Given the description of an element on the screen output the (x, y) to click on. 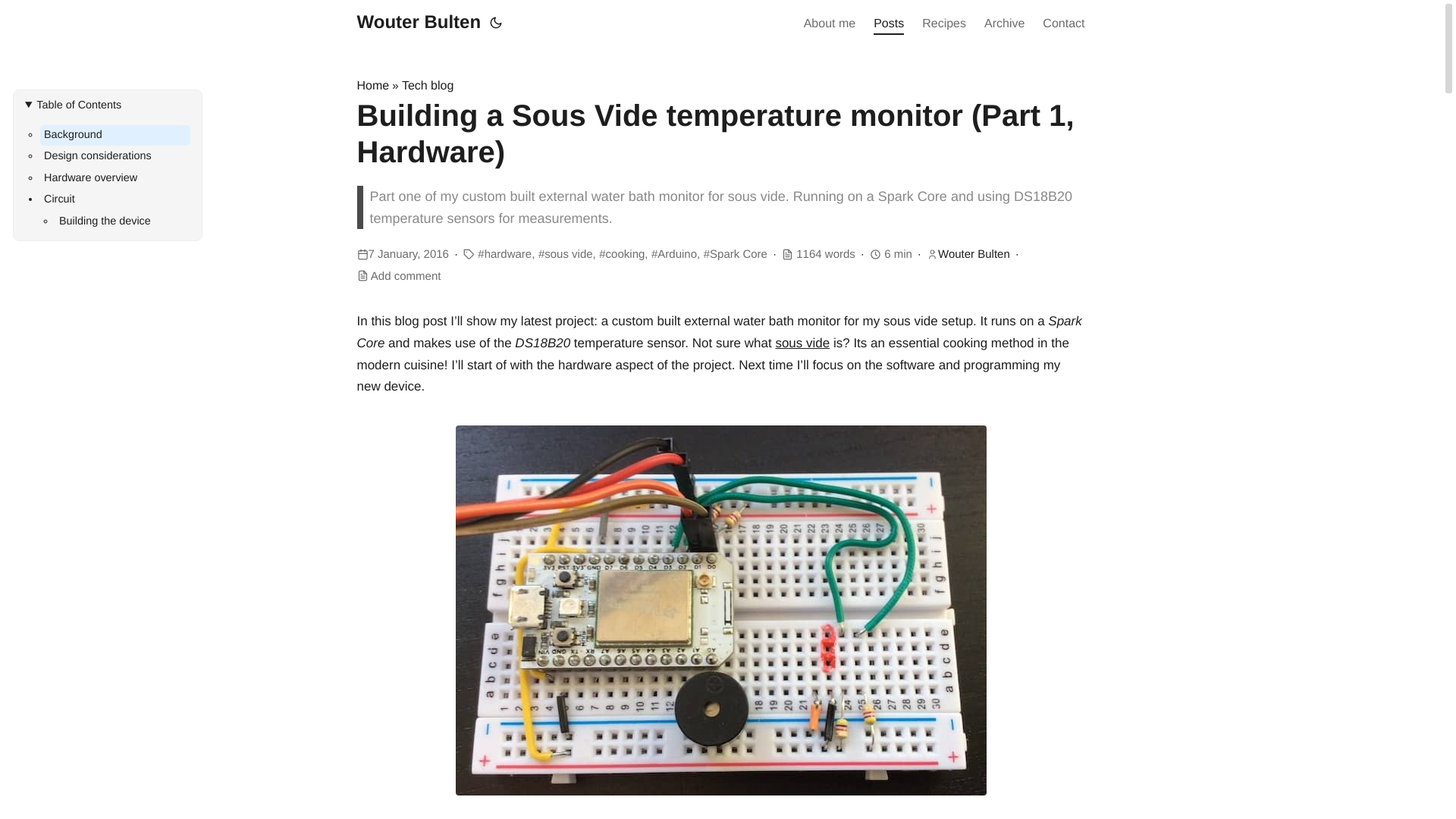
Design considerations (115, 156)
Add comment (406, 276)
Posts (888, 24)
Background (115, 135)
Recipes (943, 24)
Contact (1063, 24)
About me (829, 24)
Hardware overview (115, 178)
Circuit (115, 199)
sous vide (801, 342)
